Given the description of an element on the screen output the (x, y) to click on. 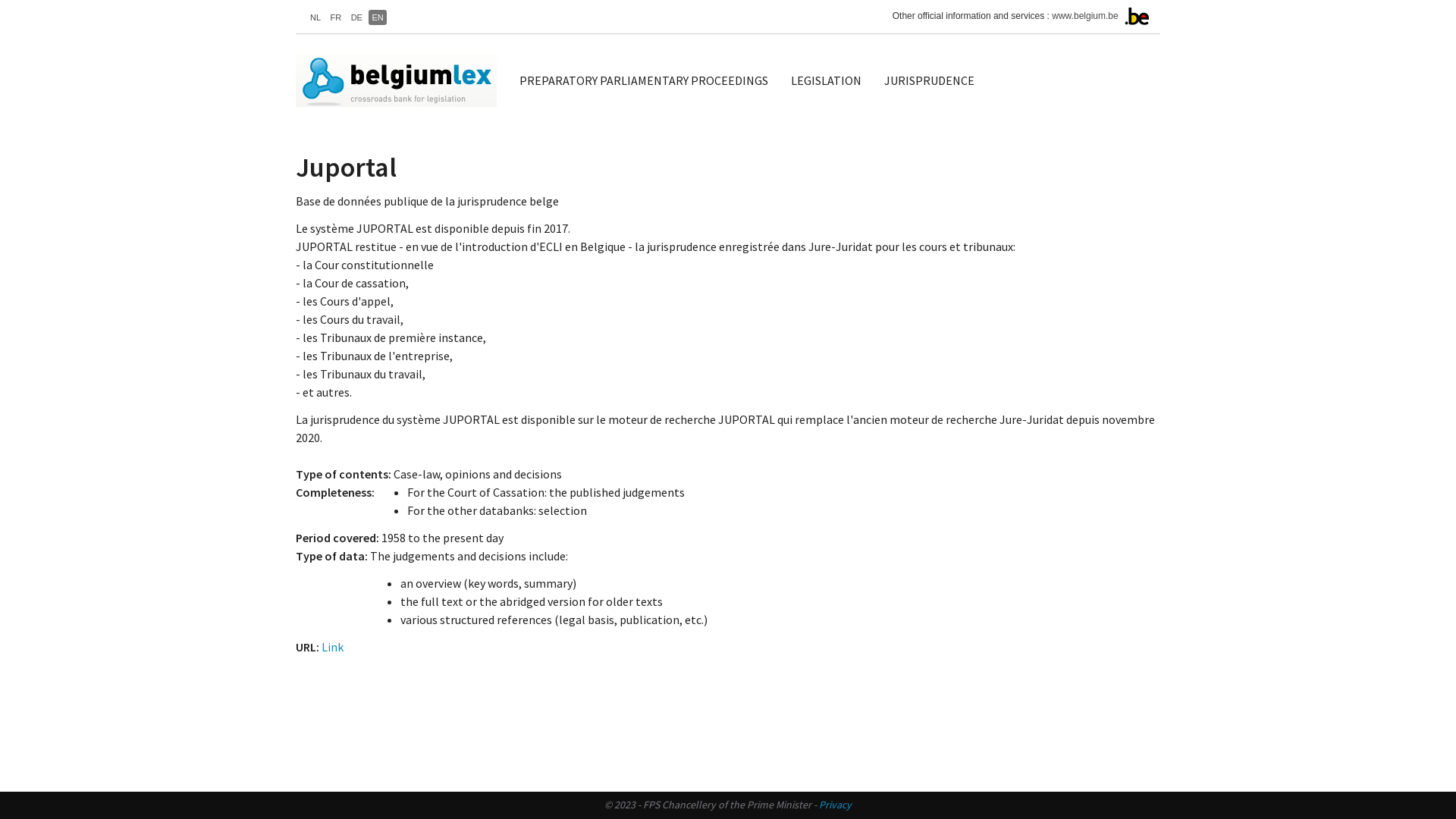
PREPARATORY PARLIAMENTARY PROCEEDINGS Element type: text (643, 80)
Skip to main content Element type: text (0, 0)
Privacy Element type: text (835, 804)
LEGISLATION Element type: text (825, 80)
Home Element type: hover (401, 79)
JURISPRUDENCE Element type: text (928, 80)
Link Element type: text (332, 646)
FR Element type: text (336, 17)
NL Element type: text (315, 17)
www.belgium.be Element type: text (1084, 15)
EN Element type: text (376, 17)
DE Element type: text (356, 17)
